Given the description of an element on the screen output the (x, y) to click on. 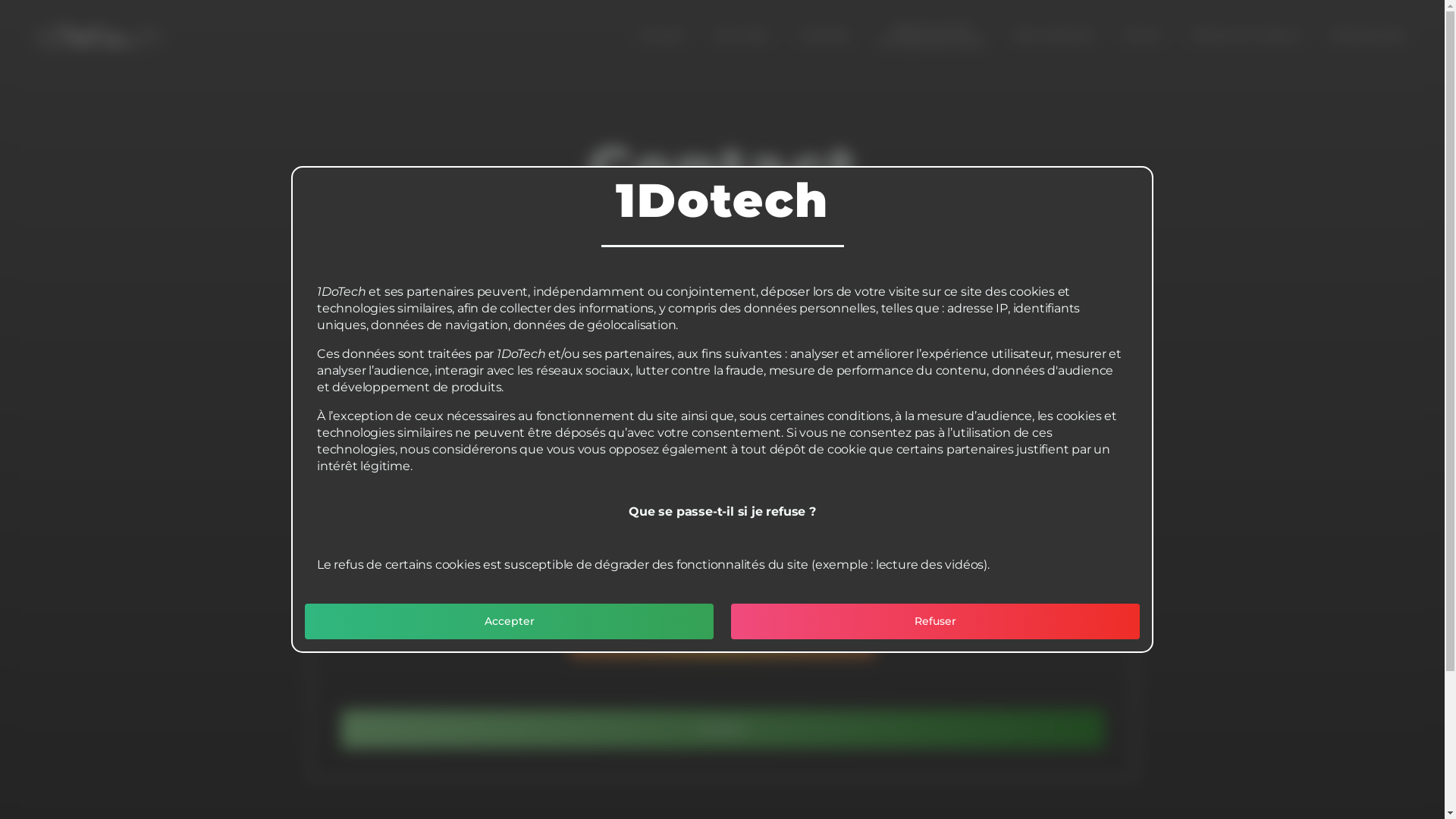
Accepter Element type: text (508, 620)
Refuser Element type: text (935, 620)
Valider Element type: text (722, 728)
Mission et valeurs Element type: text (1245, 36)
Vision Element type: text (1142, 36)
Accueil Element type: text (662, 36)
Recrutement Element type: text (1054, 36)
Partenariats Element type: text (1367, 36)
